Given the description of an element on the screen output the (x, y) to click on. 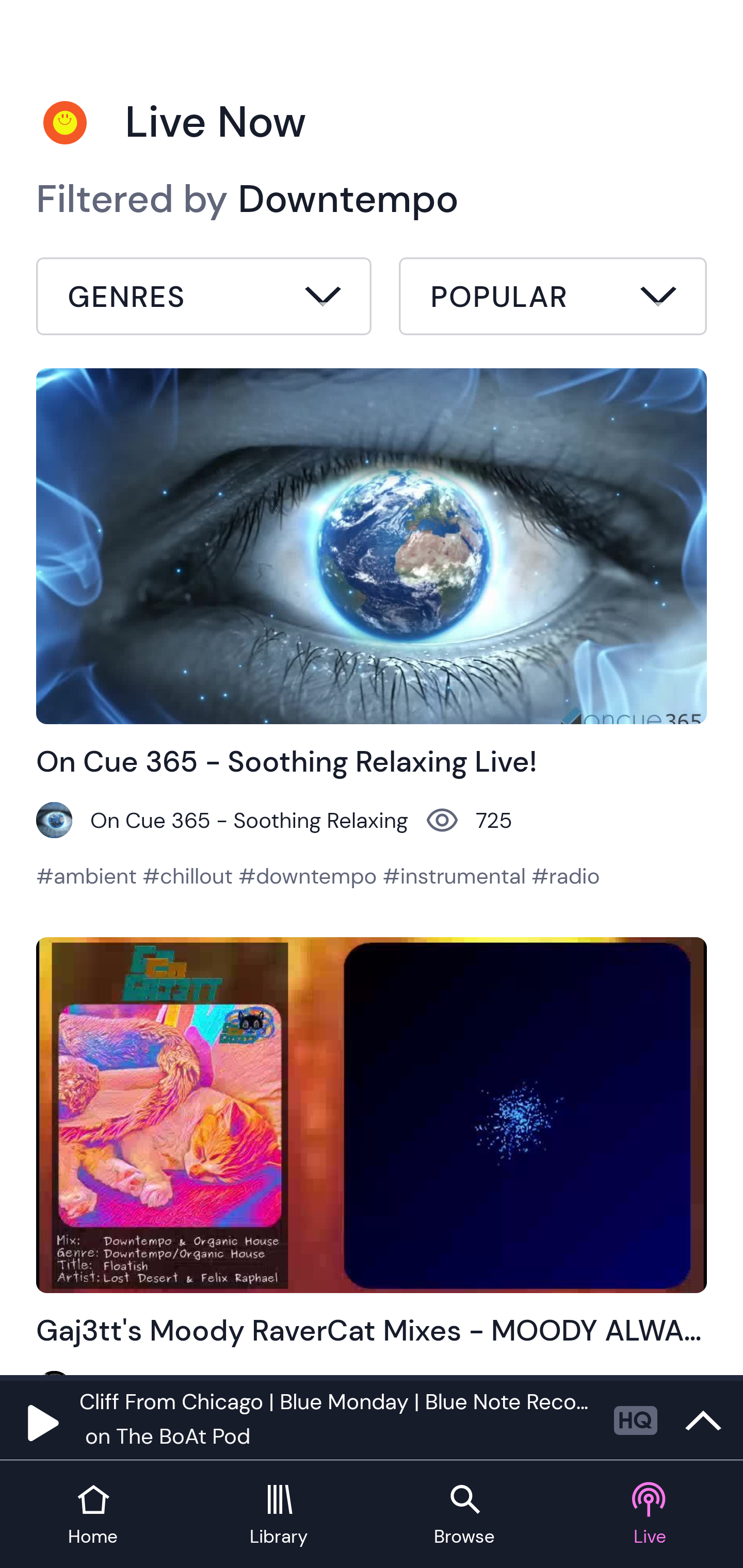
Filter by button Downtempo (203, 299)
Sort by button Popular (552, 299)
Home tab Home (92, 1515)
Library tab Library (278, 1515)
Browse tab Browse (464, 1515)
Live tab Live (650, 1515)
